Given the description of an element on the screen output the (x, y) to click on. 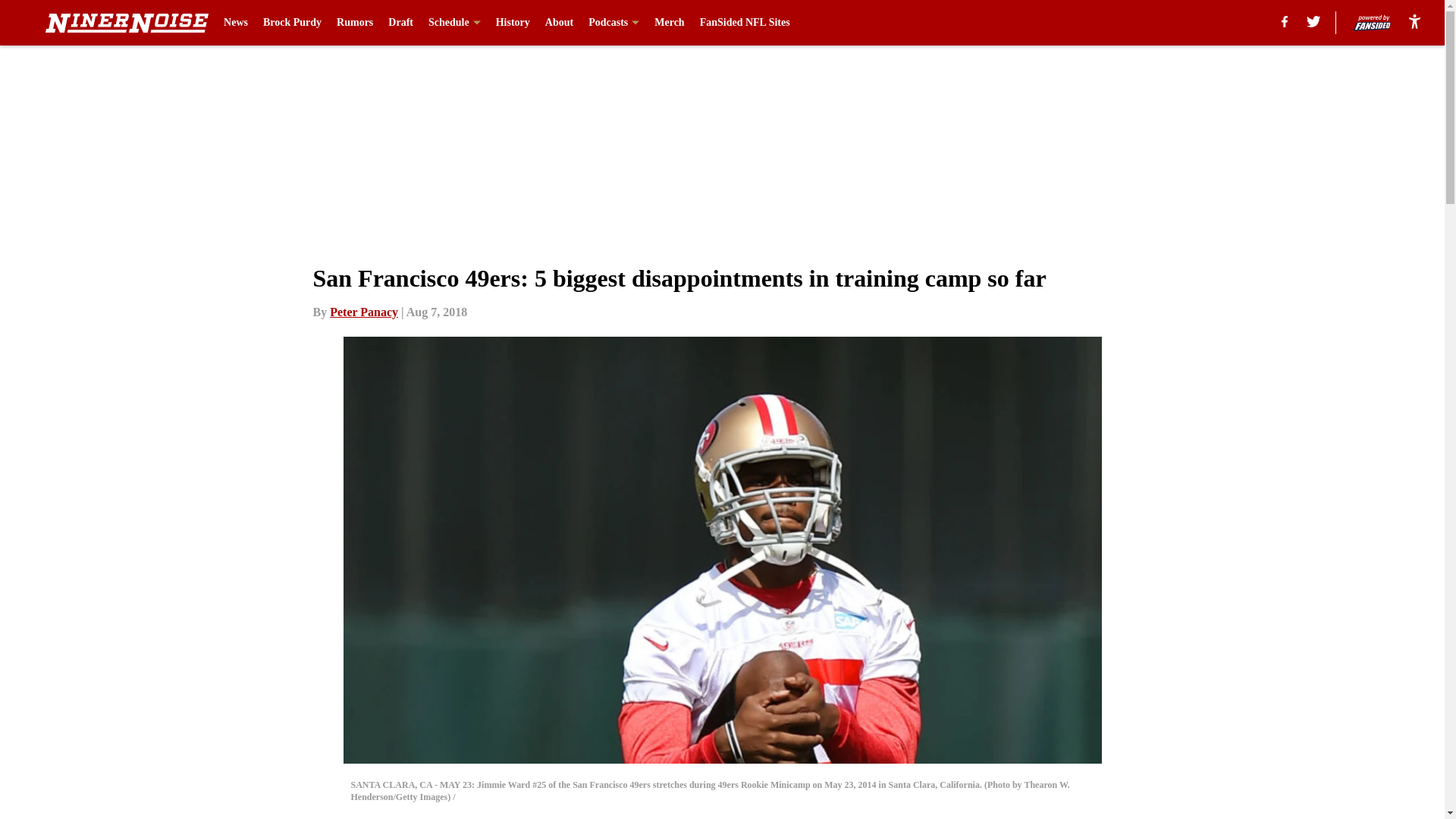
Brock Purdy (292, 22)
Rumors (354, 22)
Merch (668, 22)
About (558, 22)
Peter Panacy (363, 311)
Draft (400, 22)
News (235, 22)
History (512, 22)
FanSided NFL Sites (745, 22)
